Given the description of an element on the screen output the (x, y) to click on. 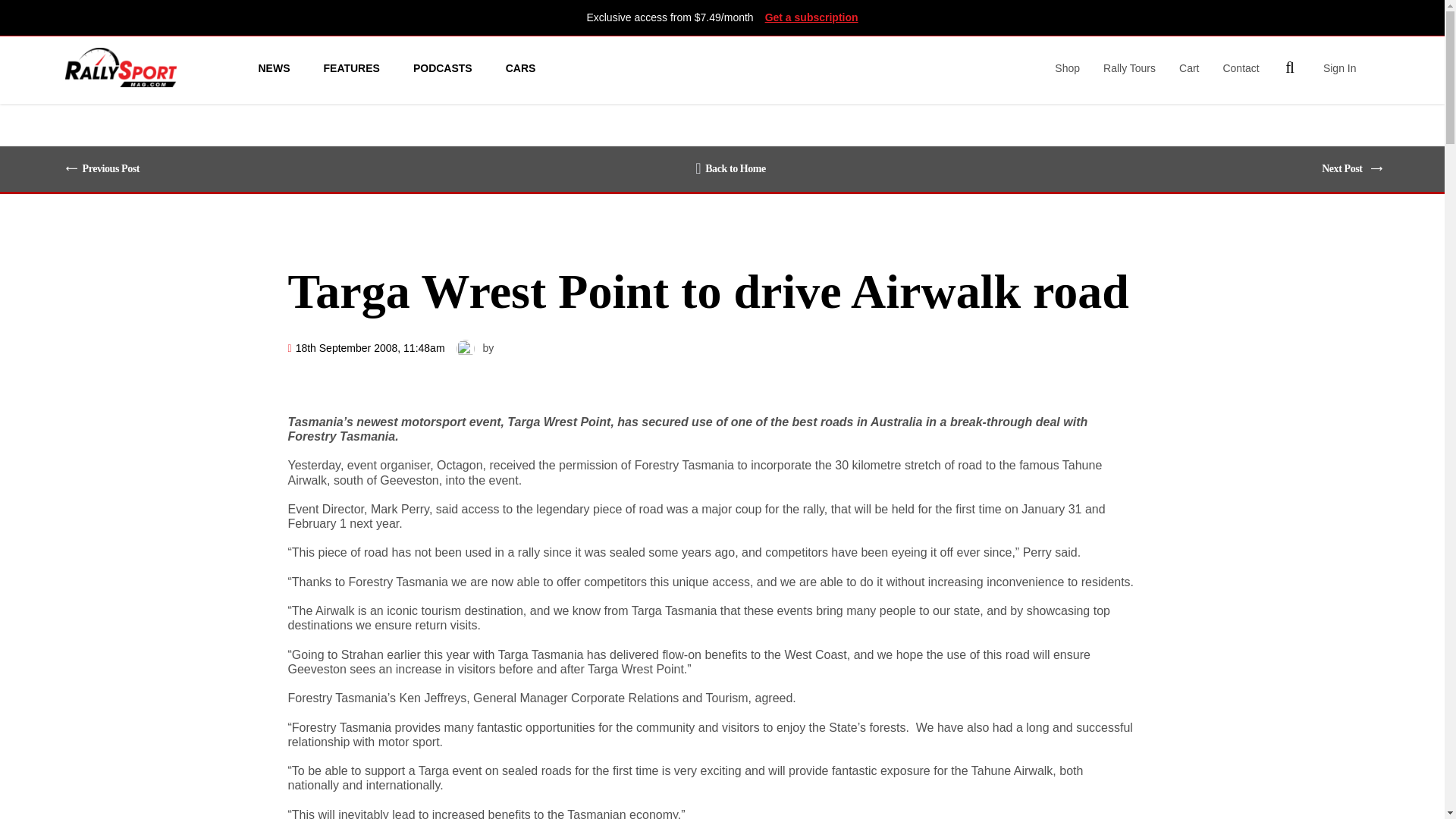
Get a subscription (812, 17)
Previous Post (107, 168)
PODCASTS (442, 67)
Next Post (1345, 168)
Back to Home (730, 168)
